Given the description of an element on the screen output the (x, y) to click on. 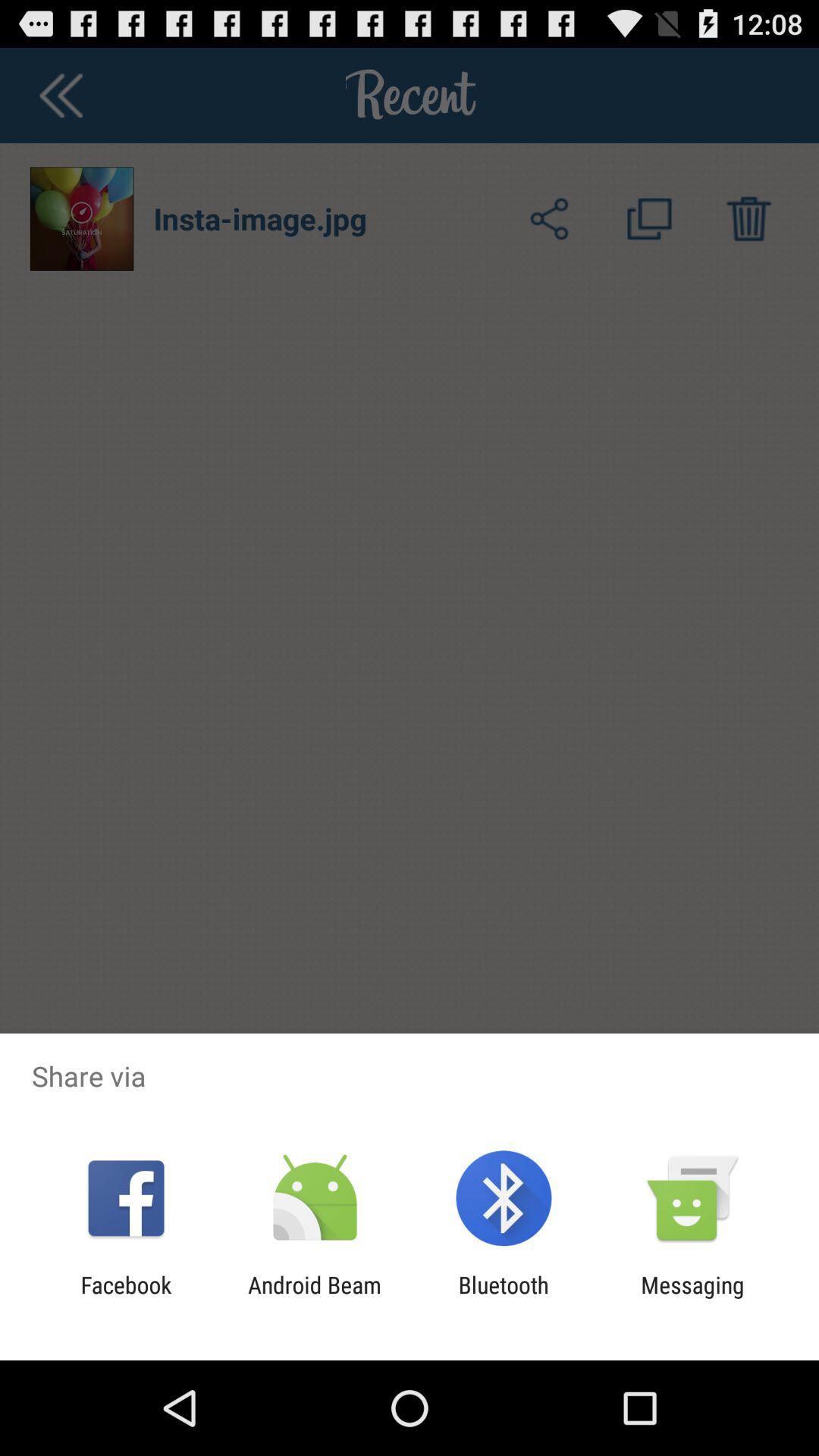
press the item to the right of the bluetooth (692, 1298)
